Given the description of an element on the screen output the (x, y) to click on. 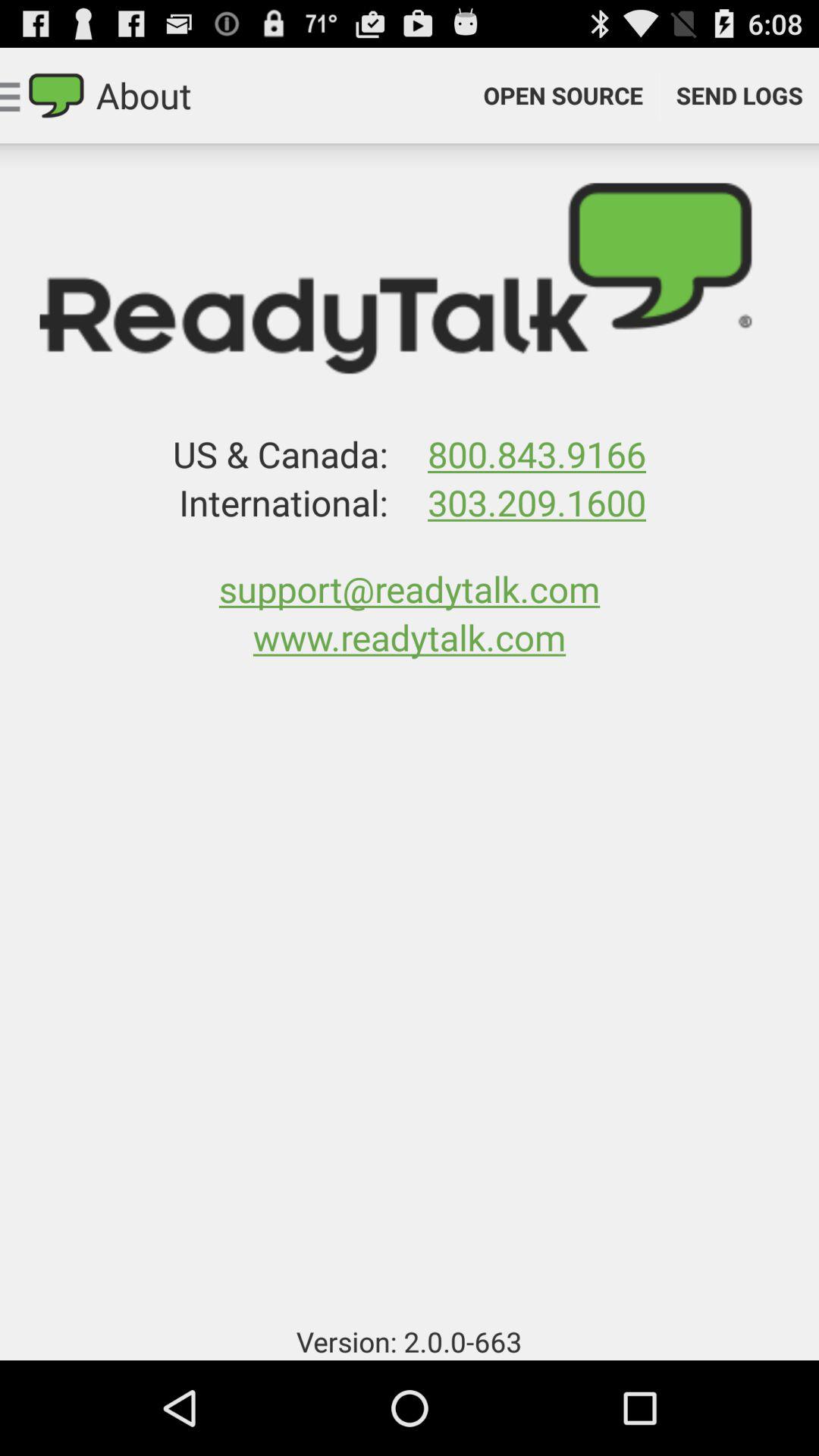
scroll to the 303.209.1600 app (536, 502)
